Given the description of an element on the screen output the (x, y) to click on. 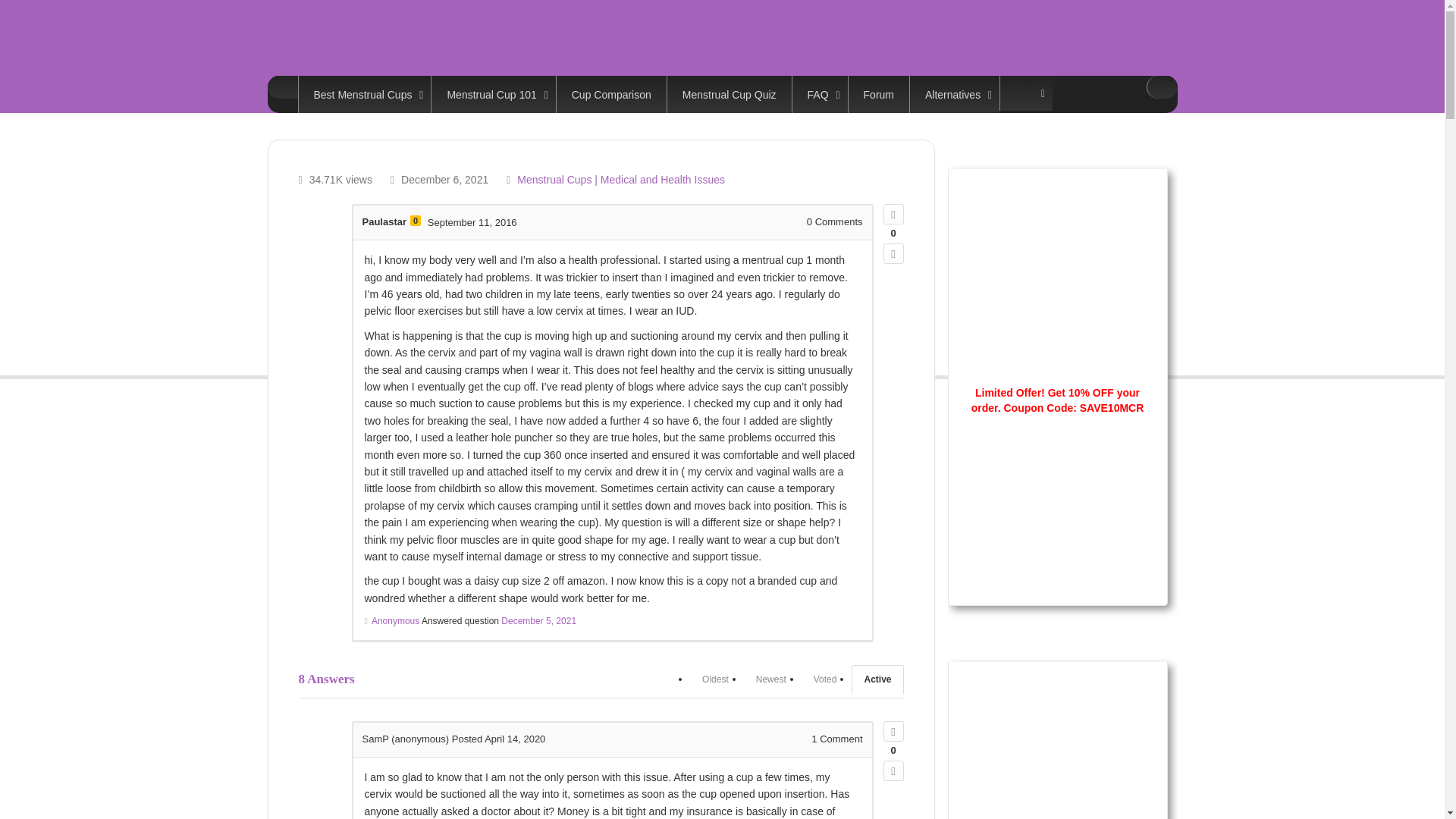
Cup Comparison (611, 94)
Click to Read Full Review! (1056, 530)
Forum (877, 94)
Best Menstrual Cups (363, 94)
Menstrual Cup 101 (492, 94)
Reputation (415, 220)
Down vote this post (892, 253)
Up vote this post (892, 213)
FAQ (819, 94)
Down vote this post (892, 770)
Menstrual Cup Quiz (729, 94)
Up vote this post (892, 731)
